Given the description of an element on the screen output the (x, y) to click on. 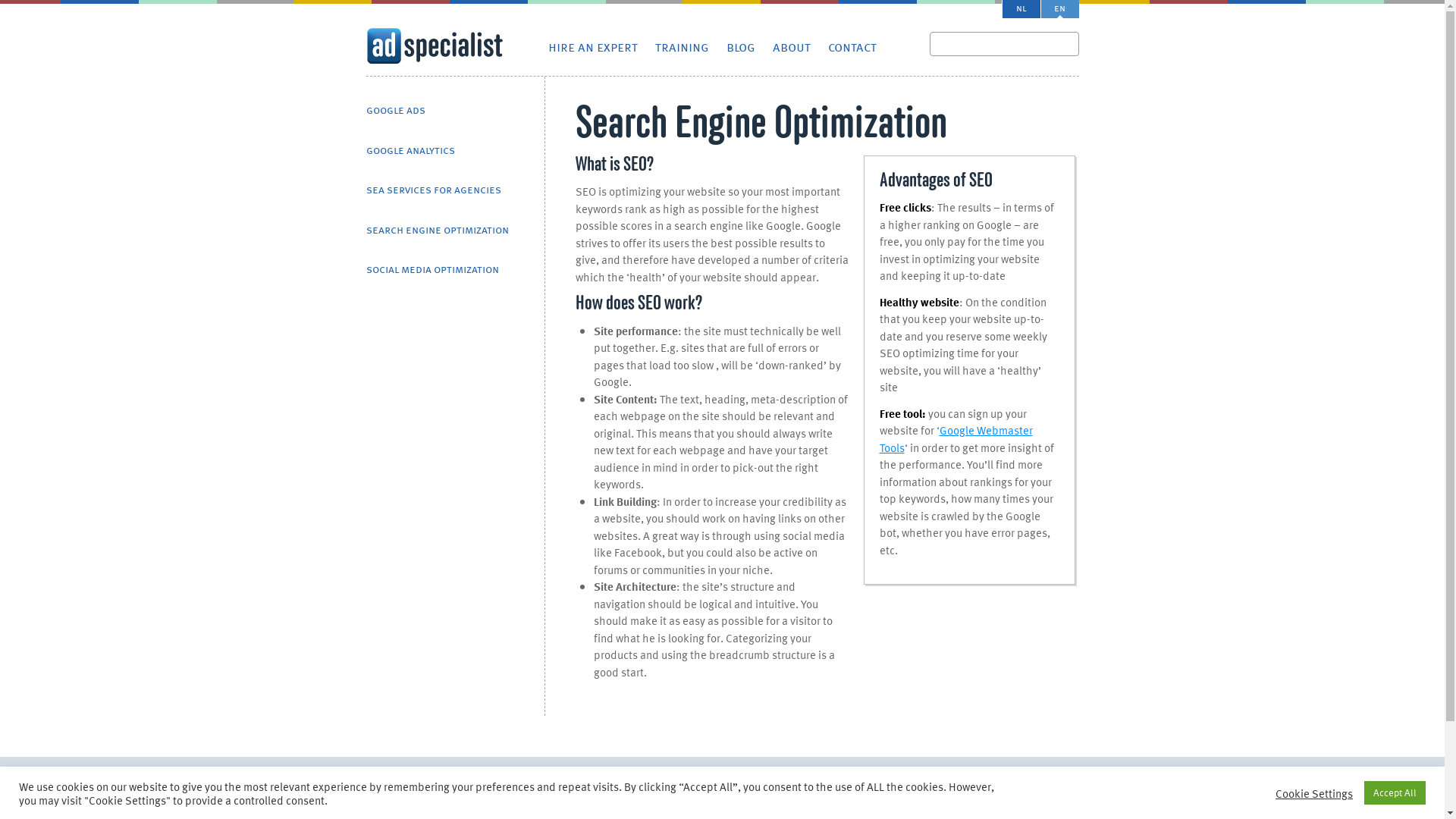
Accept All Element type: text (1394, 792)
social media optimization Element type: text (431, 270)
hire an expert Element type: text (592, 47)
contact Element type: text (852, 47)
sea services for agencies Element type: text (432, 190)
google ads Element type: text (394, 110)
google analytics Element type: text (409, 150)
training Element type: text (682, 47)
blog Element type: text (740, 47)
search engine optimization Element type: text (436, 229)
nl Element type: text (1020, 9)
AdSpecialist Element type: text (433, 46)
Search Element type: text (23, 11)
about Element type: text (790, 47)
Google Webmaster Tools Element type: text (955, 438)
Cookie Settings Element type: text (1313, 792)
